Given the description of an element on the screen output the (x, y) to click on. 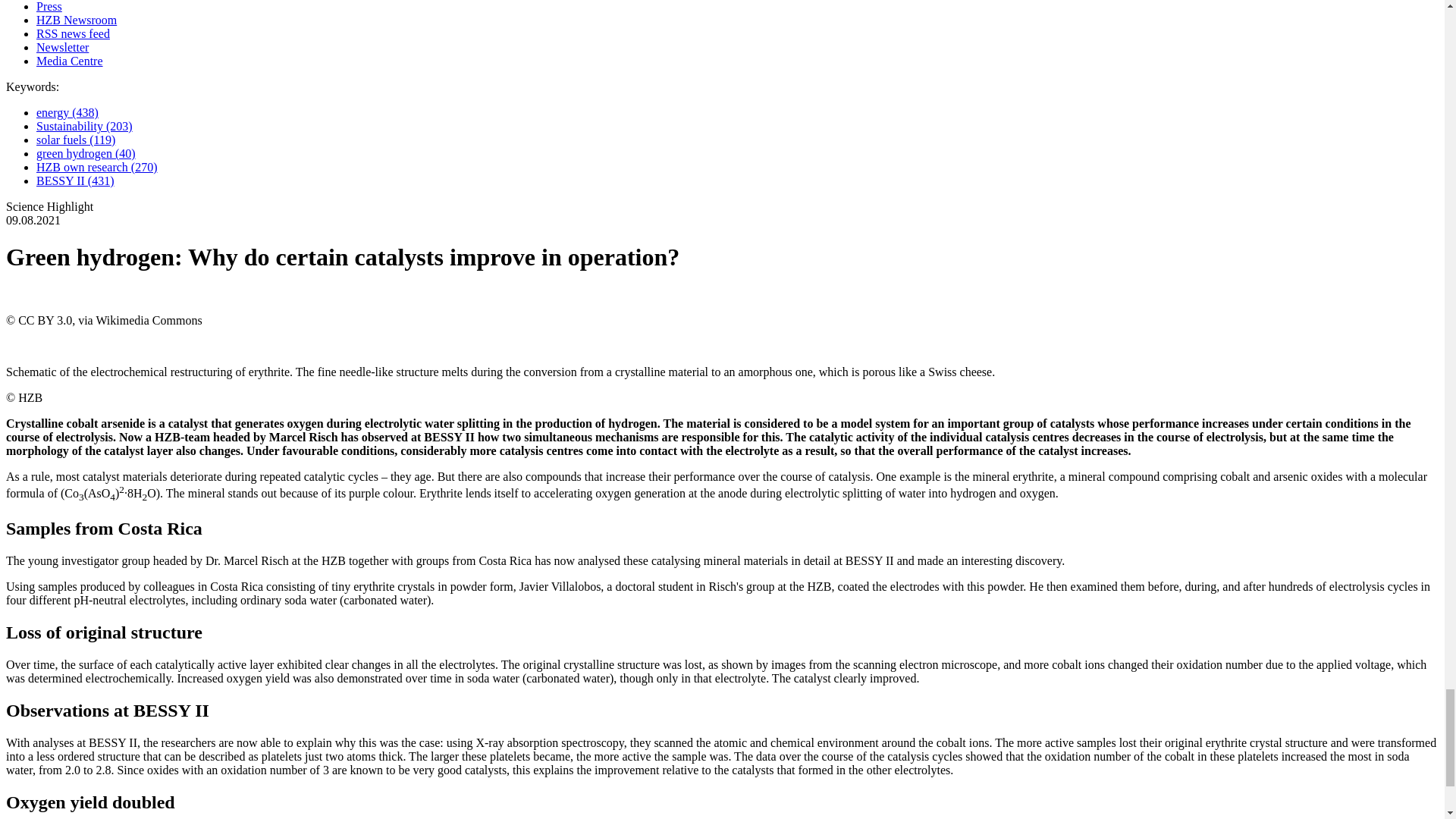
RSS news feed (73, 33)
Newsletter (62, 47)
Press (49, 6)
HZB Newsroom (76, 19)
Media Centre (69, 60)
